Given the description of an element on the screen output the (x, y) to click on. 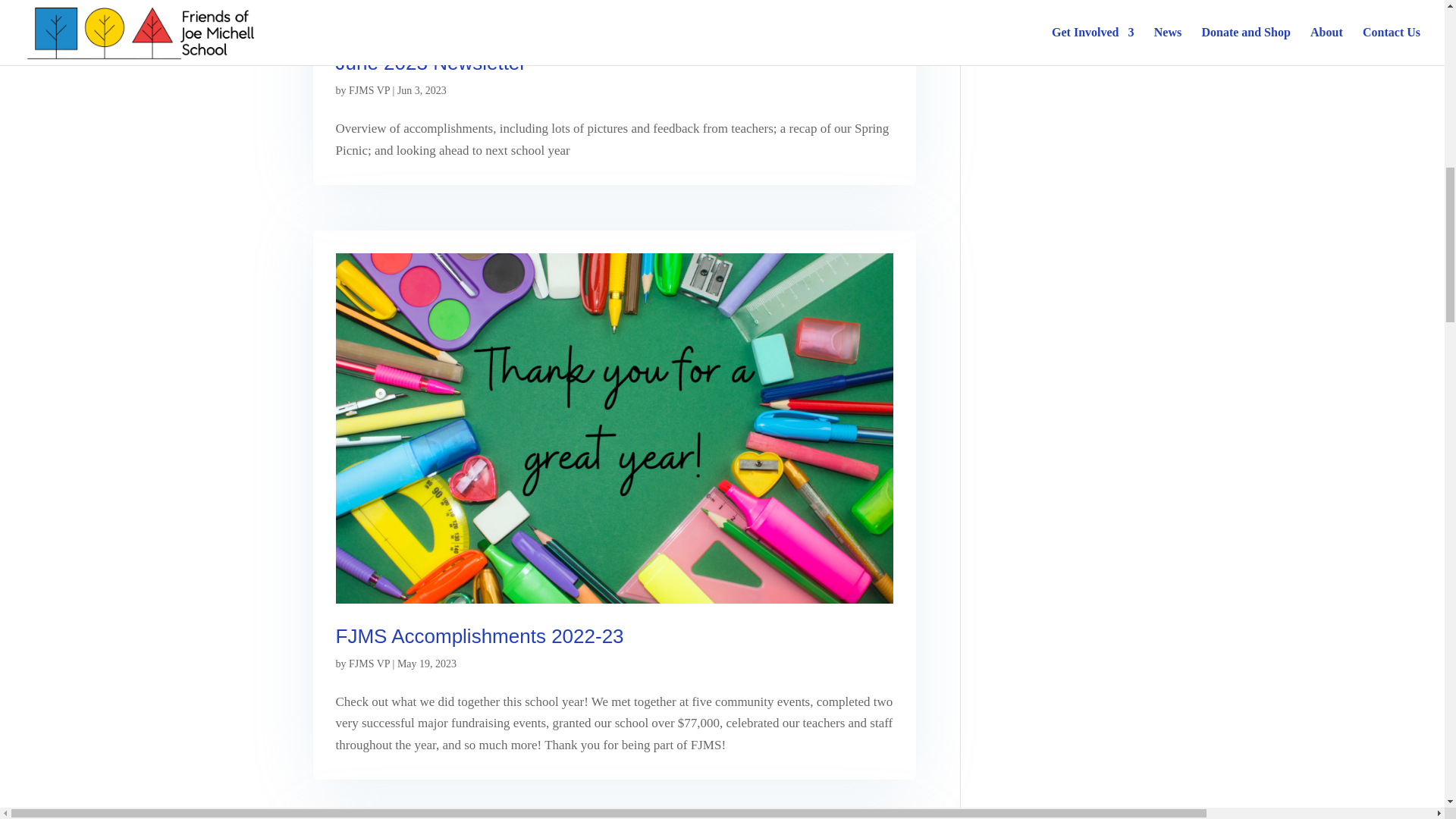
Posts by FJMS VP (369, 90)
FJMS VP (369, 90)
June 2023 Newsletter (429, 62)
FJMS VP (369, 663)
FJMS Accomplishments 2022-23 (478, 635)
Posts by FJMS VP (369, 663)
